Given the description of an element on the screen output the (x, y) to click on. 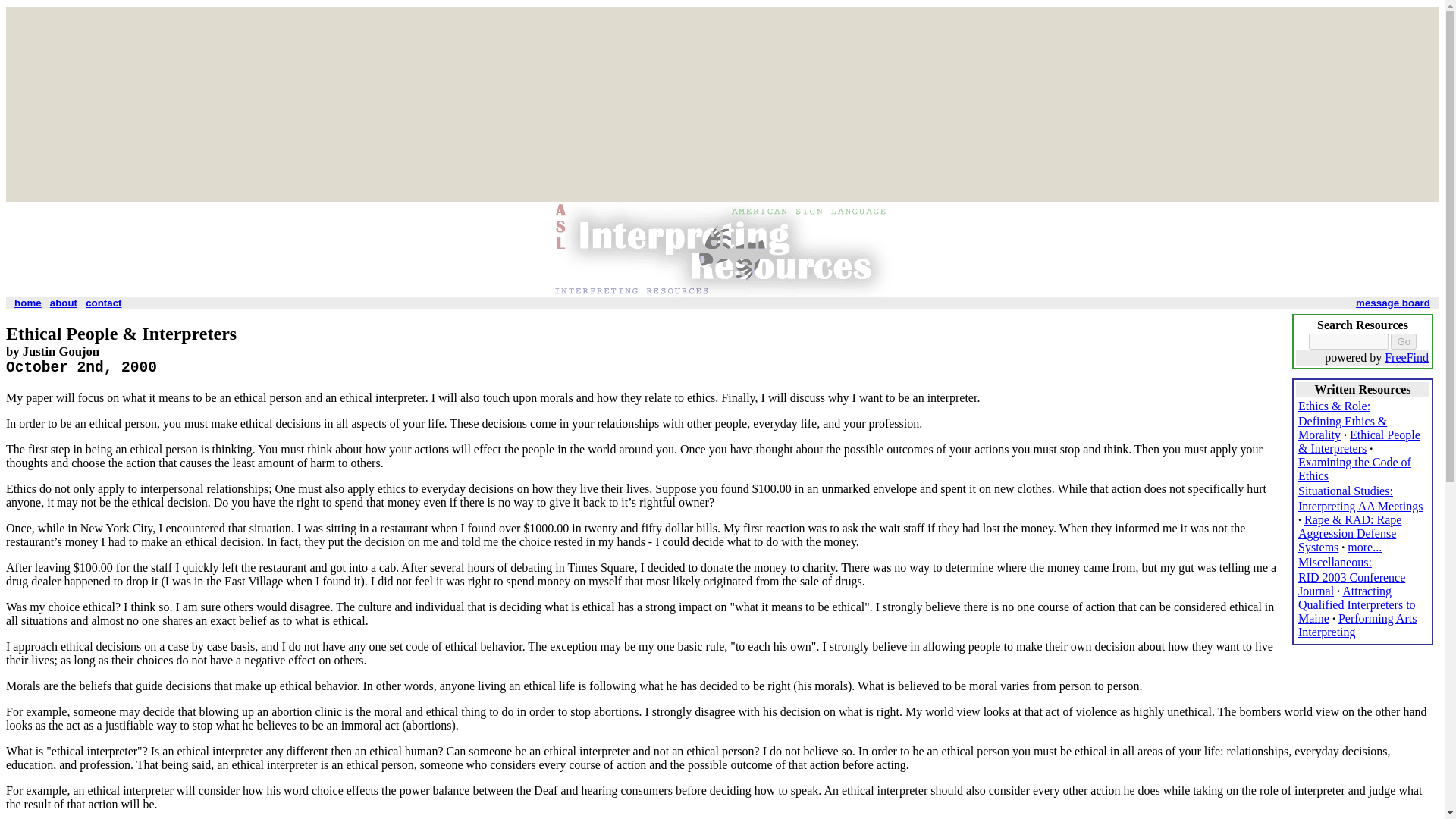
about (63, 302)
Attracting Qualified Interpreters to Maine (1356, 604)
Situational Studies: (1345, 490)
RID 2003 Conference Journal (1351, 583)
home (28, 302)
contact (102, 302)
Go (1403, 341)
Miscellaneous: (1334, 562)
more... (1364, 546)
FreeFind (1406, 357)
Interpreting AA Meetings (1360, 505)
Performing Arts Interpreting (1357, 624)
Examining the Code of Ethics (1354, 468)
message board (1392, 302)
